Given the description of an element on the screen output the (x, y) to click on. 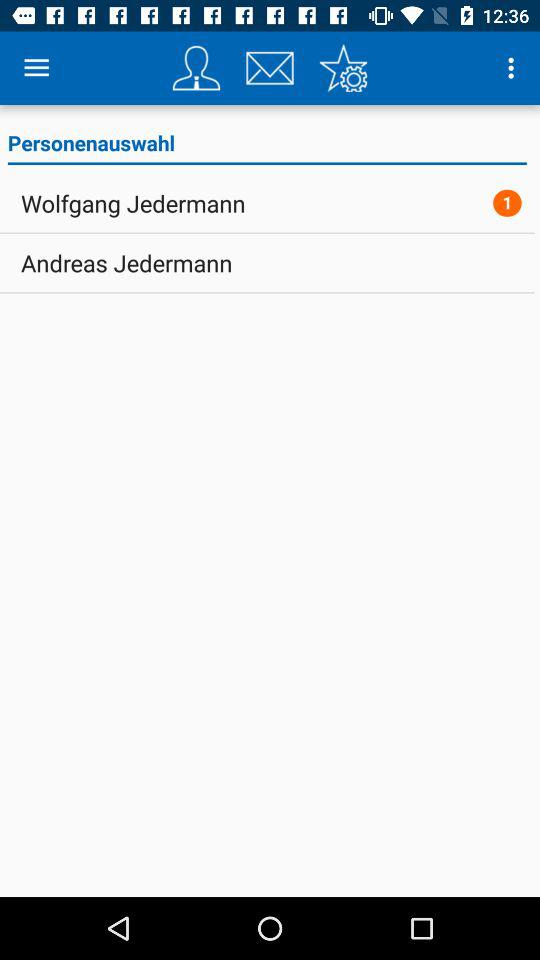
send via email (269, 67)
